Given the description of an element on the screen output the (x, y) to click on. 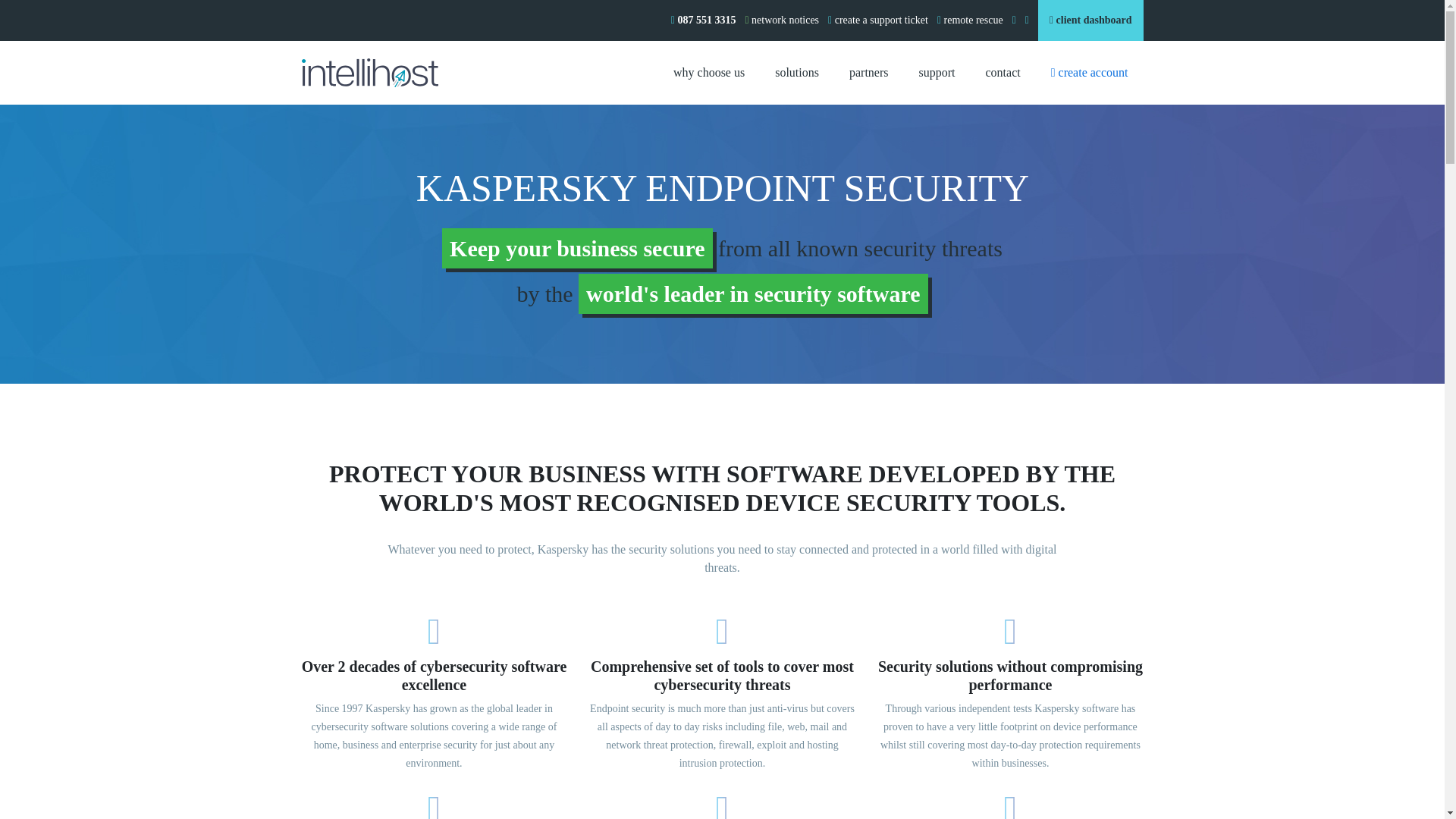
contact (1003, 72)
network notices (781, 20)
solutions (797, 72)
create a support ticket (878, 20)
client dashboard (1090, 20)
087 551 3315 (703, 20)
partners (869, 72)
why choose us (709, 72)
remote rescue (970, 20)
support (937, 72)
